Given the description of an element on the screen output the (x, y) to click on. 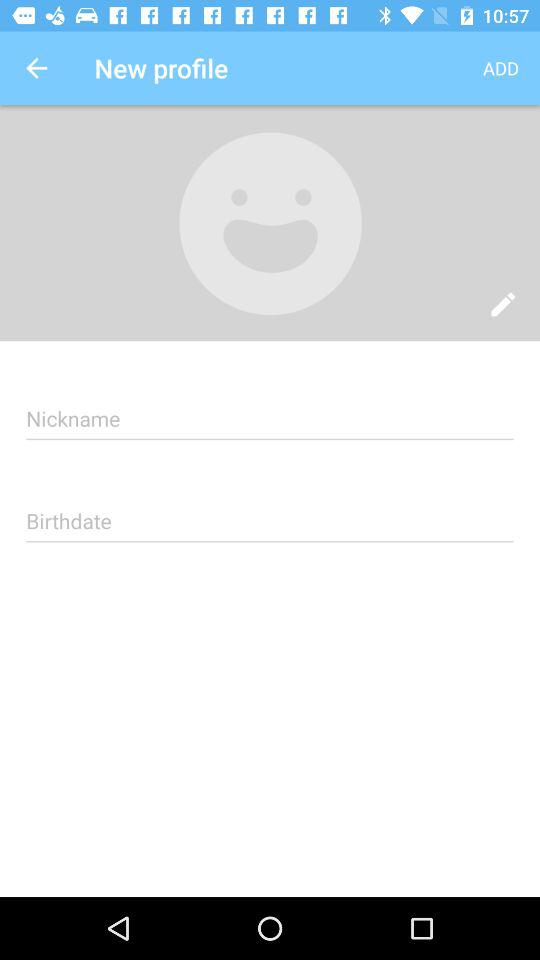
scroll to add icon (500, 67)
